Given the description of an element on the screen output the (x, y) to click on. 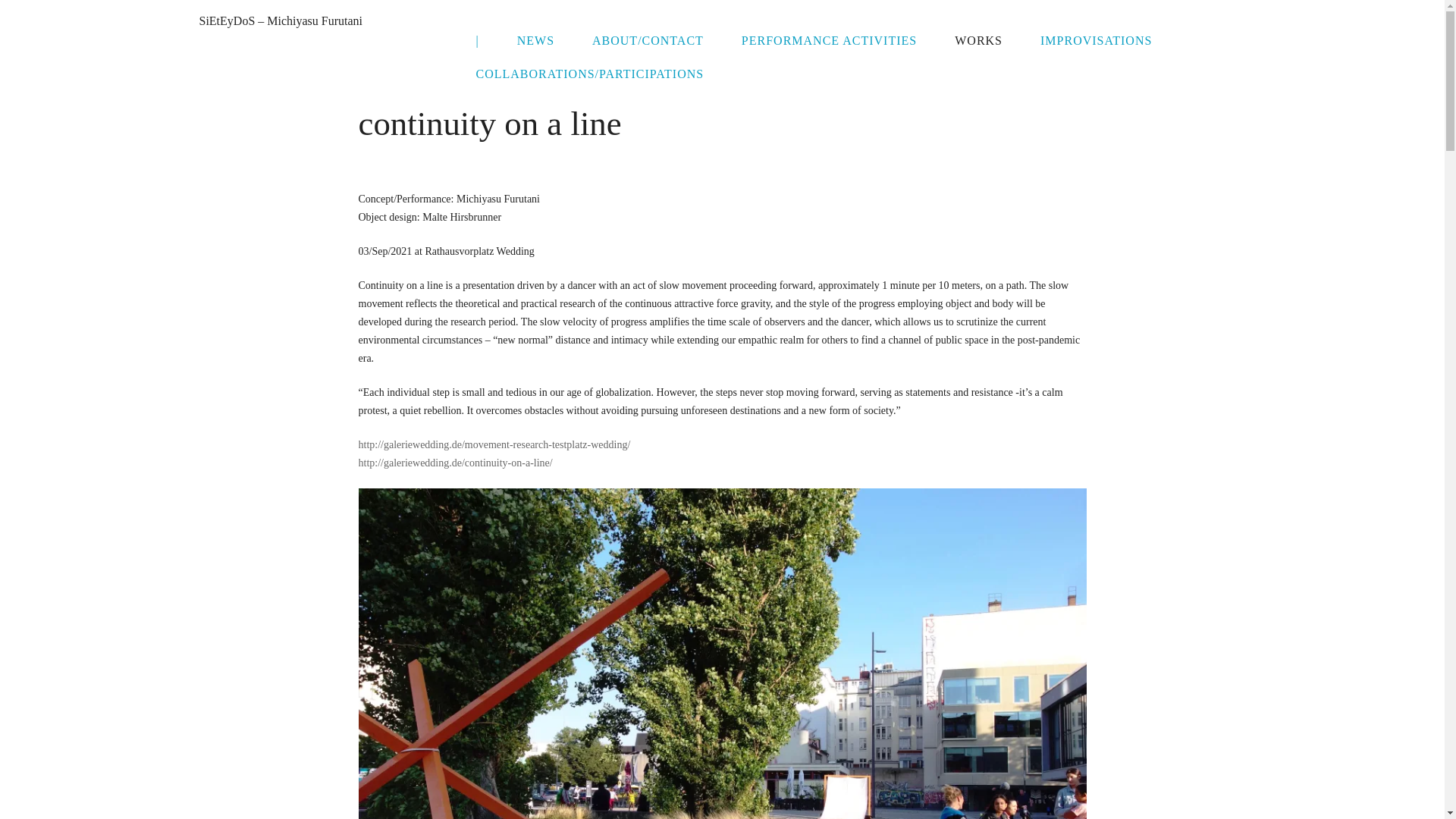
PERFORMANCE ACTIVITIES (829, 40)
WORKS (979, 40)
NEWS (535, 40)
IMPROVISATIONS (1096, 40)
